Given the description of an element on the screen output the (x, y) to click on. 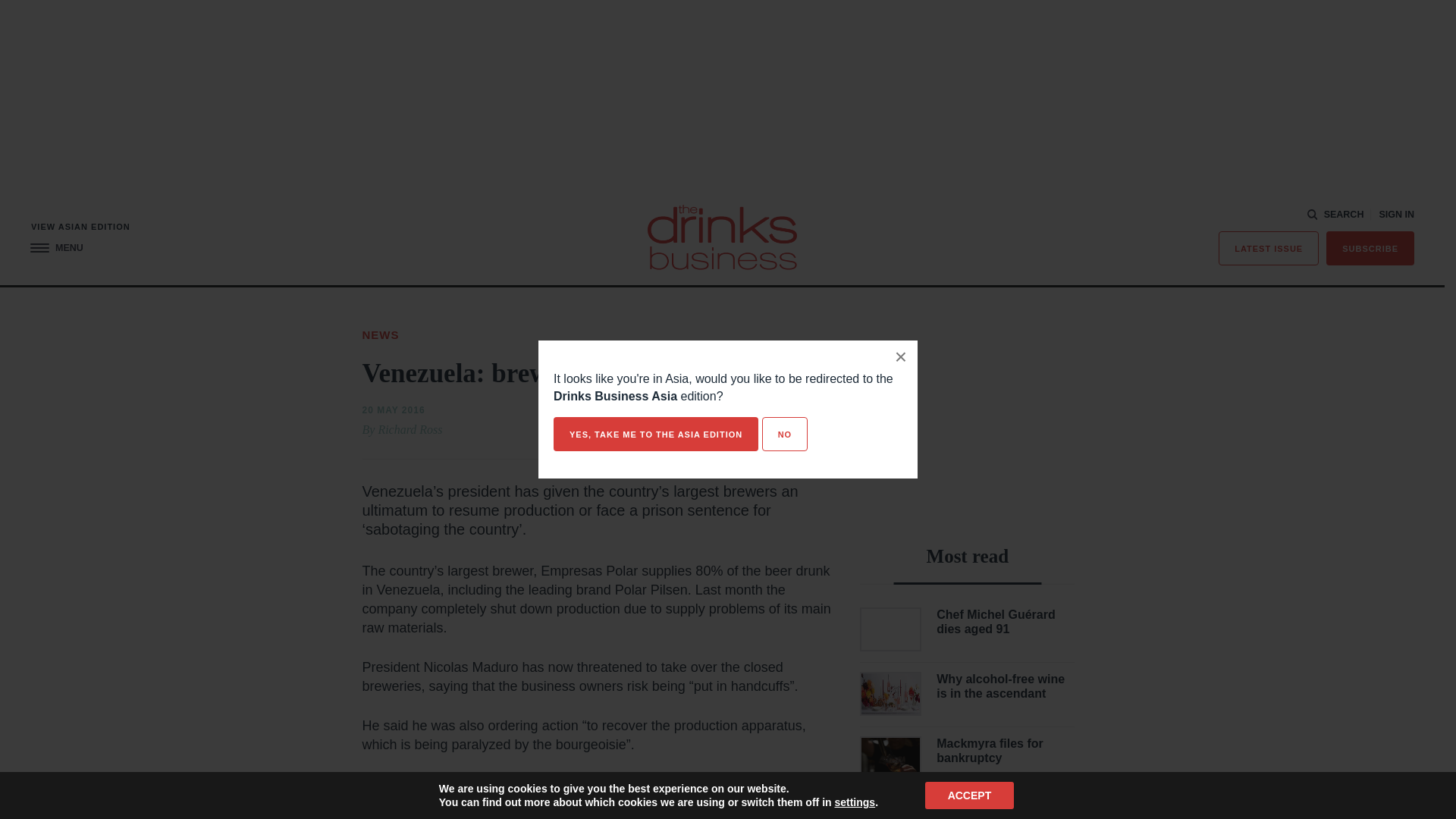
SEARCH (1335, 214)
SIGN IN (1395, 214)
VIEW ASIAN EDITION (80, 226)
3rd party ad content (967, 420)
SUBSCRIBE (1369, 247)
LATEST ISSUE (1268, 247)
NO (784, 433)
YES, TAKE ME TO THE ASIA EDITION (655, 433)
The Drinks Business (721, 237)
